Given the description of an element on the screen output the (x, y) to click on. 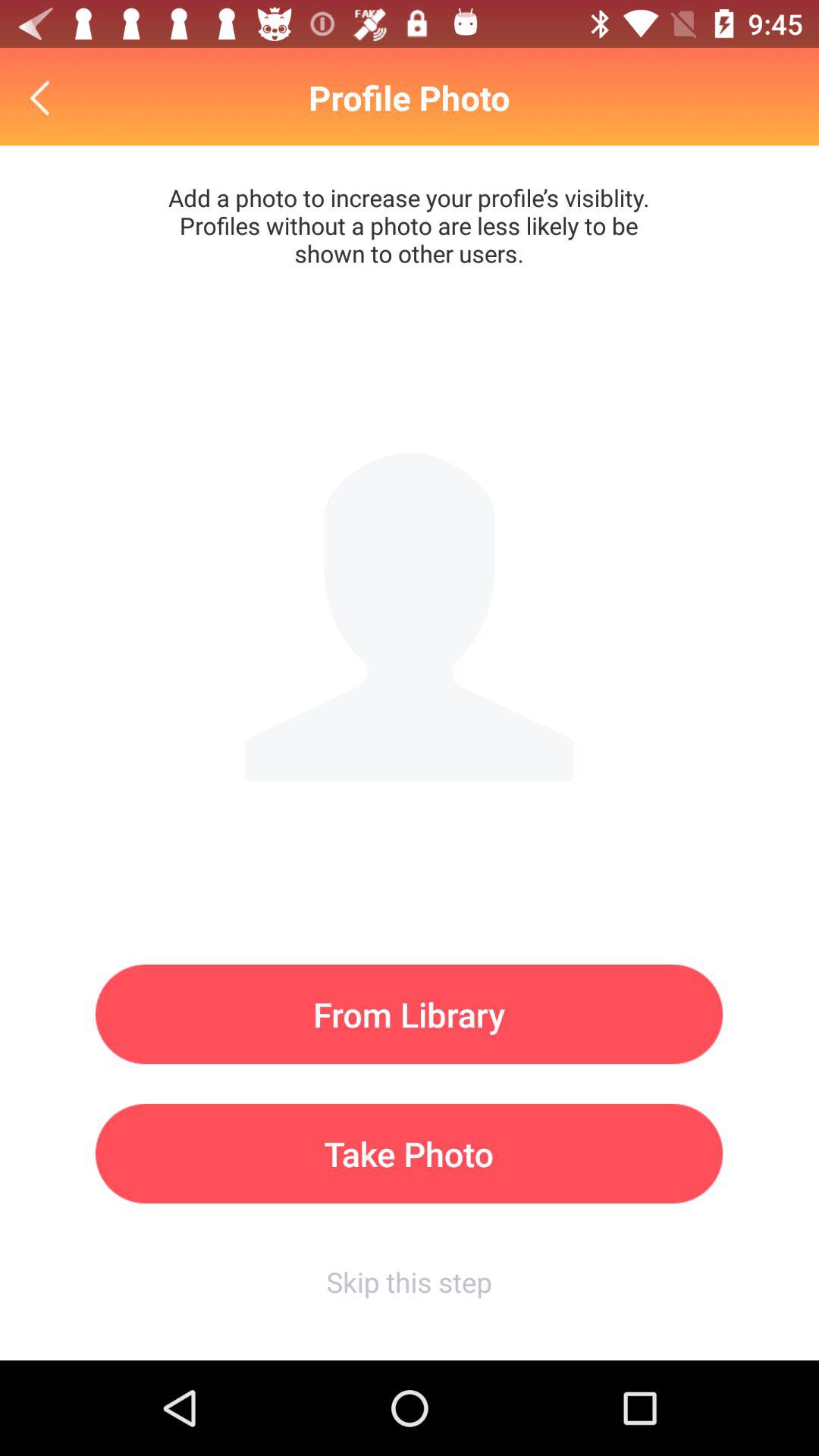
turn off button at the top left corner (43, 97)
